Given the description of an element on the screen output the (x, y) to click on. 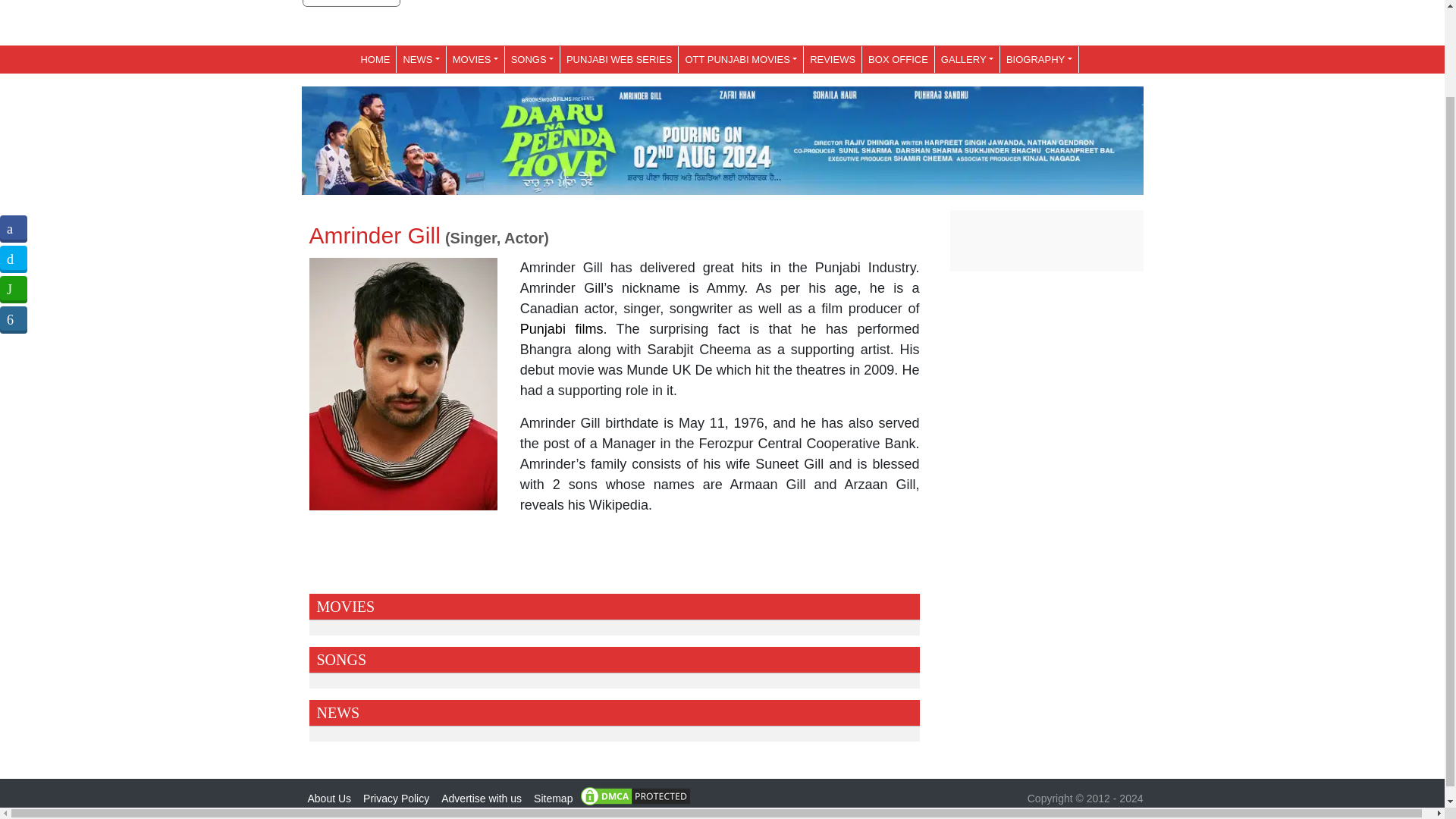
MOVIES (474, 59)
DMCA.com Protection Status (635, 794)
BIOGRAPHY (1039, 59)
OTT PUNJABI MOVIES (740, 59)
REVIEWS (832, 59)
GALLERY (966, 59)
BOX OFFICE (897, 59)
SONGS (532, 59)
NEWS (420, 59)
HOME (374, 59)
PUNJABI WEB SERIES (619, 59)
